Given the description of an element on the screen output the (x, y) to click on. 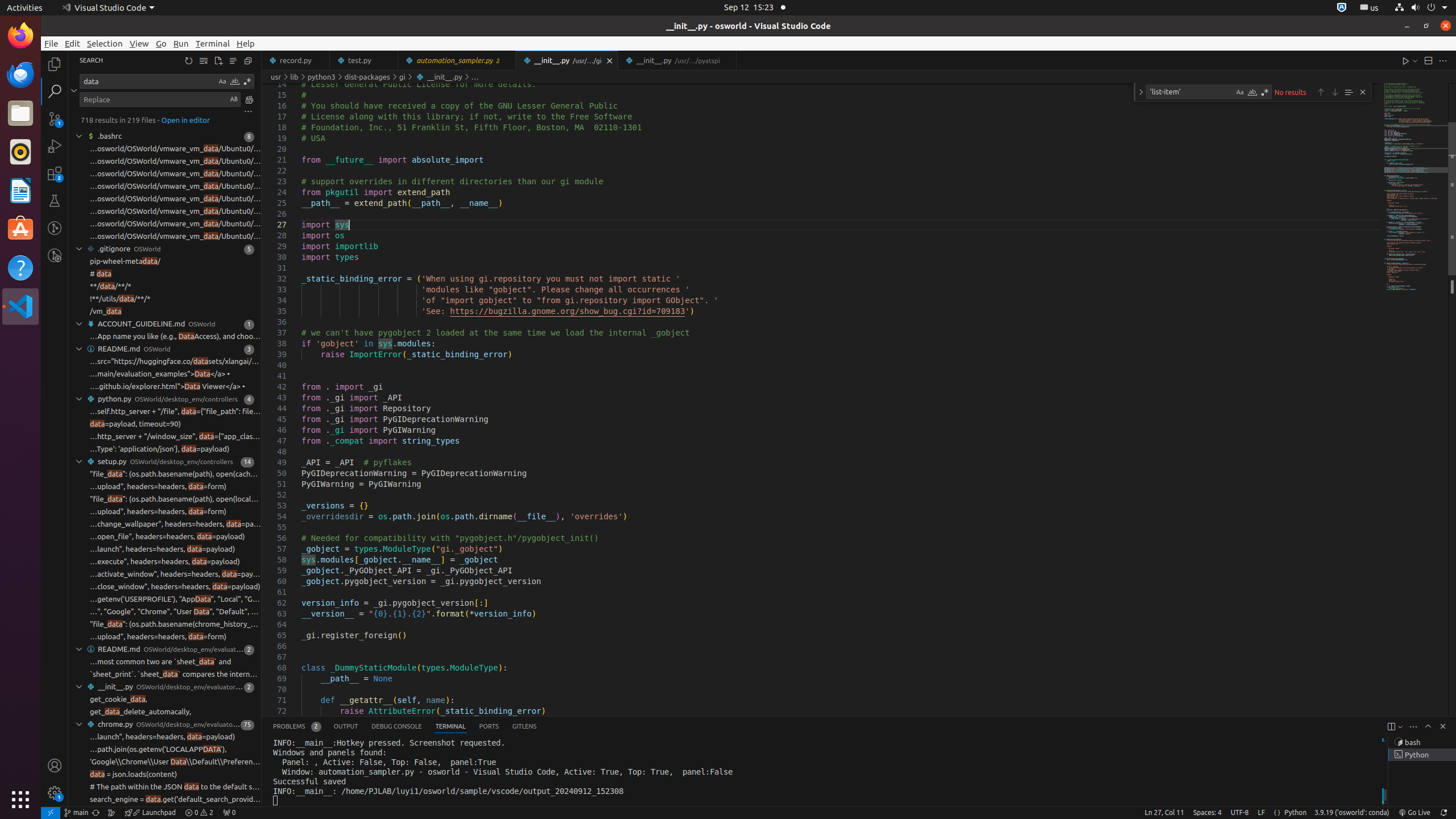
' response = requests.post(self.http_server + "/window_size", data={"app_class_name": app_class_name})' at column 77 found data Element type: tree-item (164, 436)
'alias vmbash='function _vmbash() { vmrun -T ws -gu user -gp password runScriptInGuest /home/PJLAB/luyi1/osworld/OSWorld/vmware_vm_data/Ubuntu0/Ubuntu0.vmx "/bin/bash" "$1 > /home/user/vm.log 2>&1" && vmrun -gu user -gp password copyFileFromGuestToHost /home/PJLAB/luyi1/osworld/OSWorld' at column 131 found data Element type: tree-item (164, 173)
pip-wheel-metadata/ Element type: link (124, 260)
rocket gitlens-unplug Launchpad, GitLens Launchpad ᴘʀᴇᴠɪᴇᴡ    &mdash;    [$(question)](command:gitlens.launchpad.indicator.action?%22info%22 "What is this?") [$(gear)](command:workbench.action.openSettings?%22gitlens.launchpad%22 "Settings")  |  [$(circle-slash) Hide](command:gitlens.launchpad.indicator.action?%22hide%22 "Hide") --- [Launchpad](command:gitlens.launchpad.indicator.action?%info%22 "Learn about Launchpad") organizes your pull requests into actionable groups to help you focus and keep your team unblocked. It's always accessible using the `GitLens: Open Launchpad` command from the Command Palette. --- [Connect an integration](command:gitlens.showLaunchpad?%7B%22source%22%3A%22launchpad-indicator%22%7D "Connect an integration") to get started. Element type: push-button (150, 812)
